Given the description of an element on the screen output the (x, y) to click on. 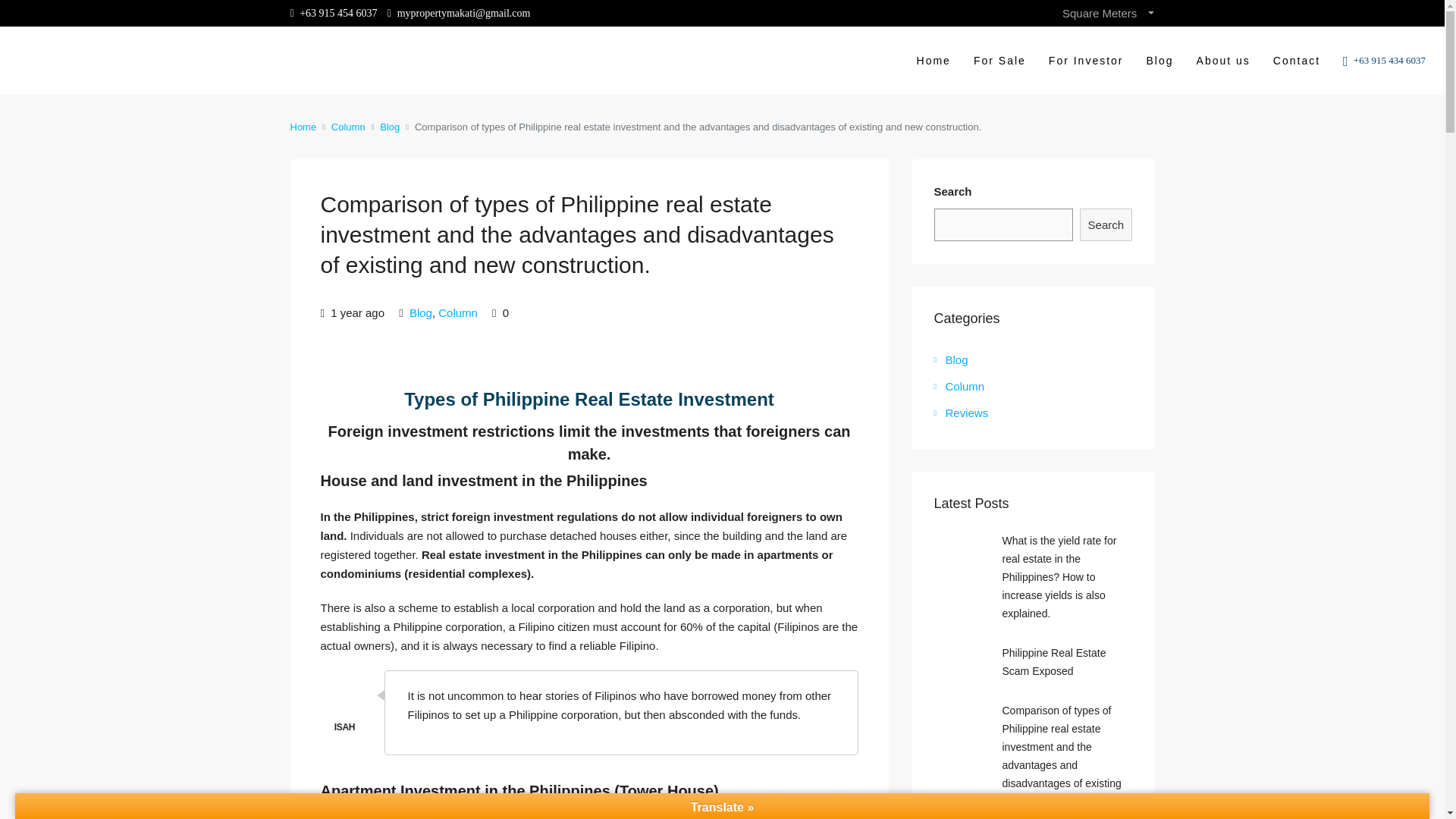
Column (348, 126)
Home (302, 126)
Square Meters (1107, 13)
Contact (1297, 60)
For Investor (1085, 60)
Blog (420, 312)
Blog (389, 126)
For Sale (999, 60)
Column (457, 312)
About us (1223, 60)
